Given the description of an element on the screen output the (x, y) to click on. 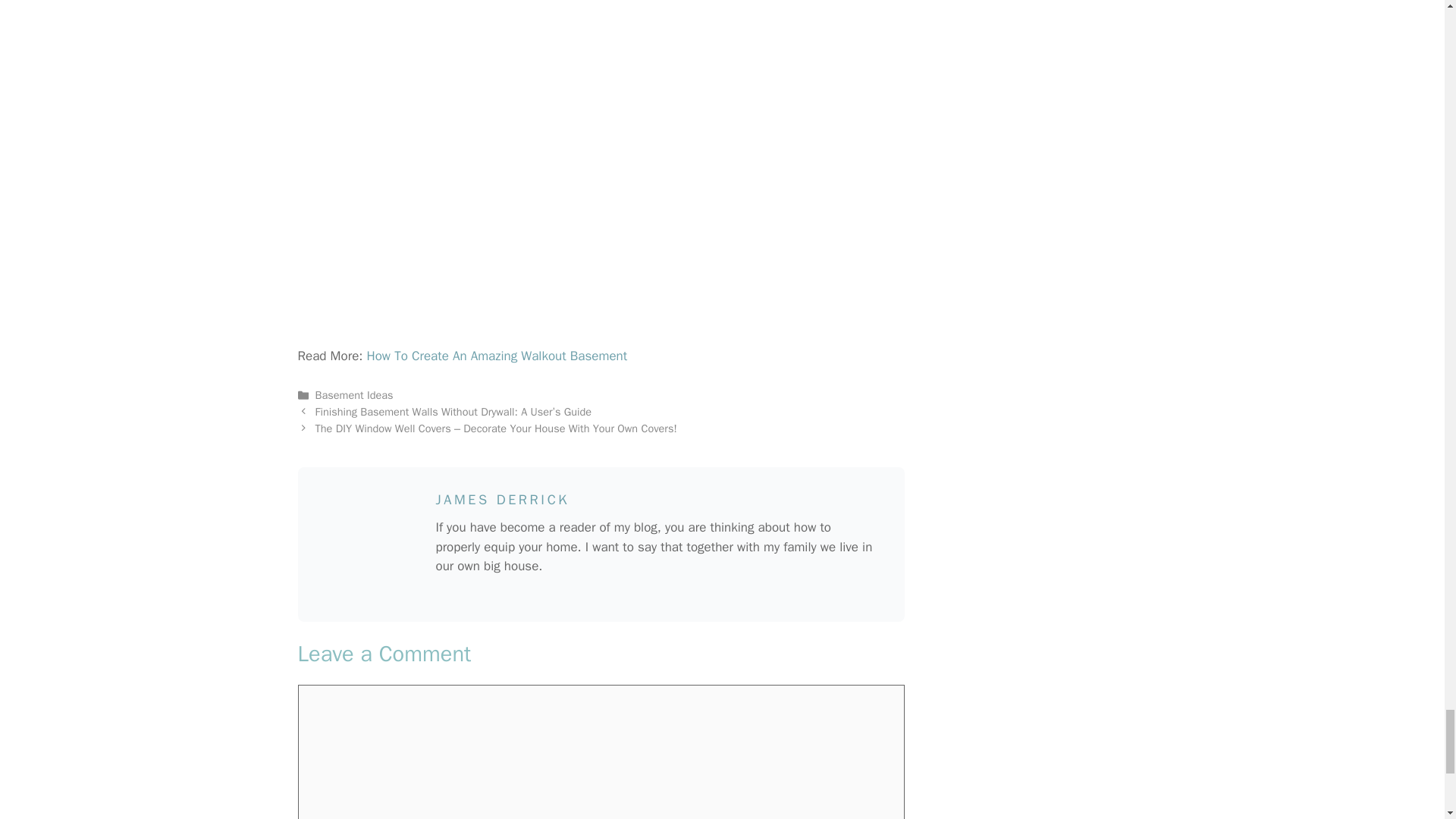
JAMES DERRICK (502, 499)
Basement Ideas (354, 395)
How To Create An Amazing Walkout Basement (494, 355)
